Given the description of an element on the screen output the (x, y) to click on. 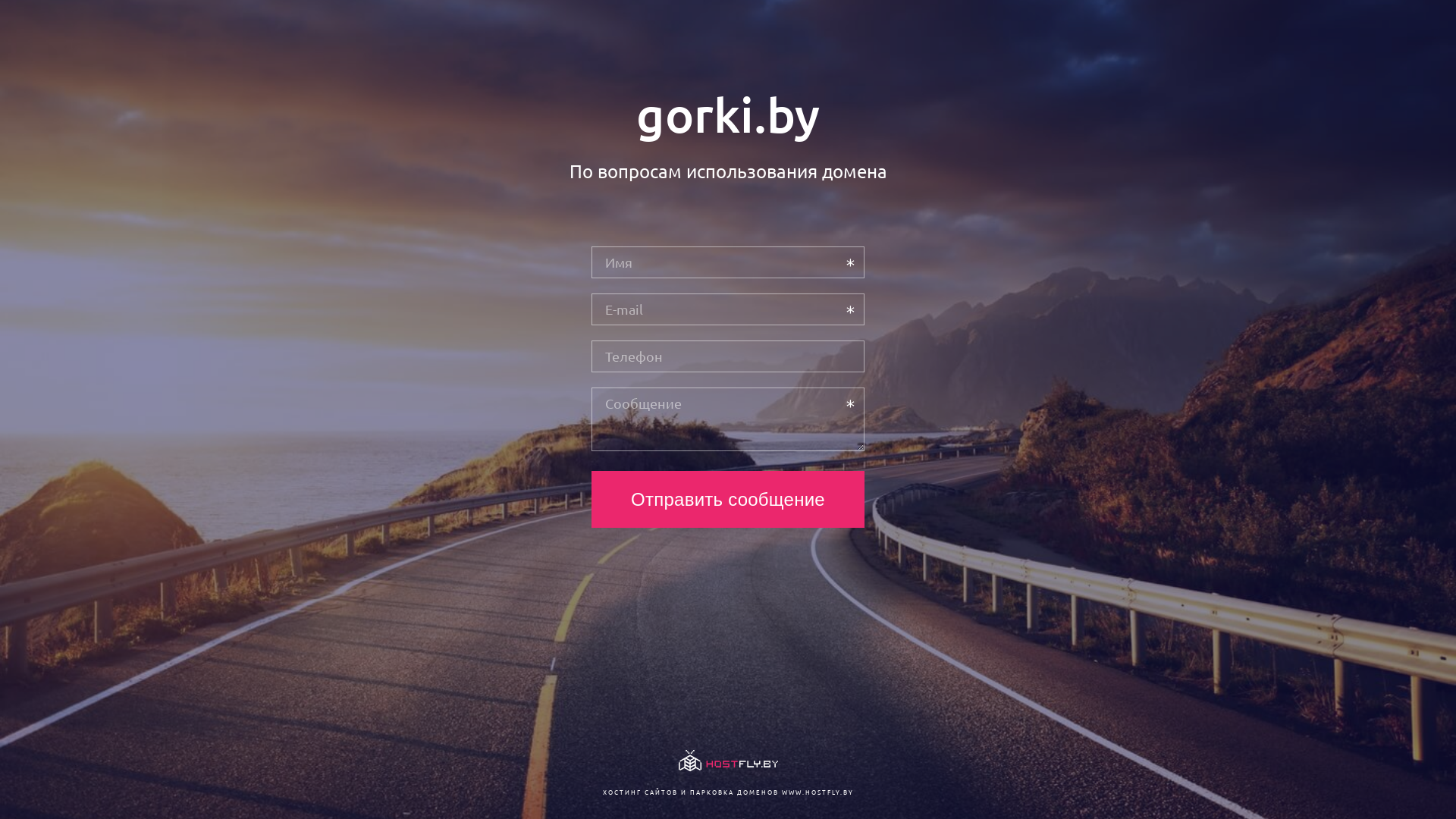
WWW.HOSTFLY.BY Element type: text (817, 791)
